Given the description of an element on the screen output the (x, y) to click on. 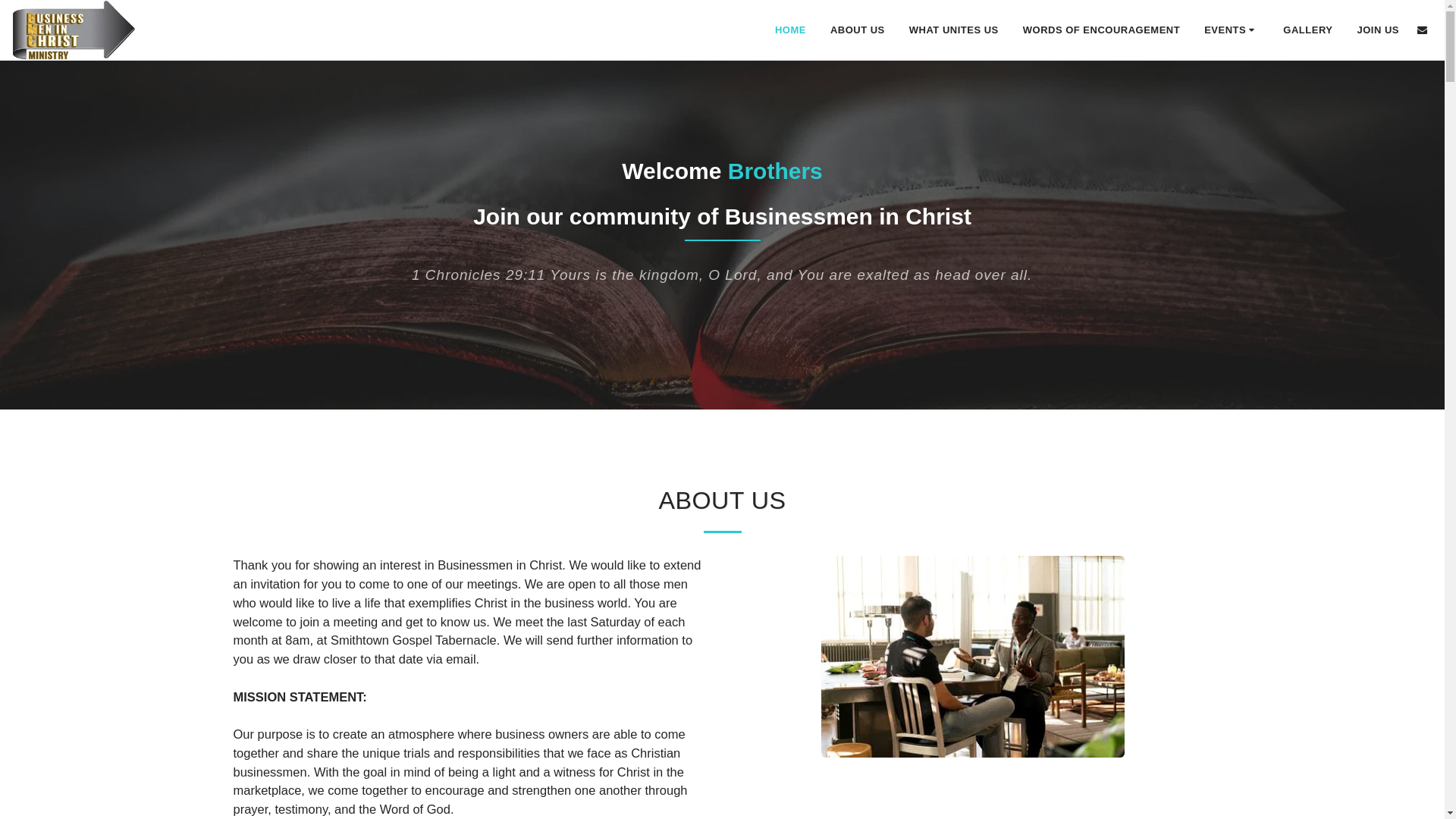
EVENTS   (1230, 29)
GALLERY (1307, 29)
WORDS OF ENCOURAGEMENT (1101, 29)
HOME (789, 29)
WHAT UNITES US (954, 29)
JOIN US (1377, 29)
ABOUT US (857, 29)
